Given the description of an element on the screen output the (x, y) to click on. 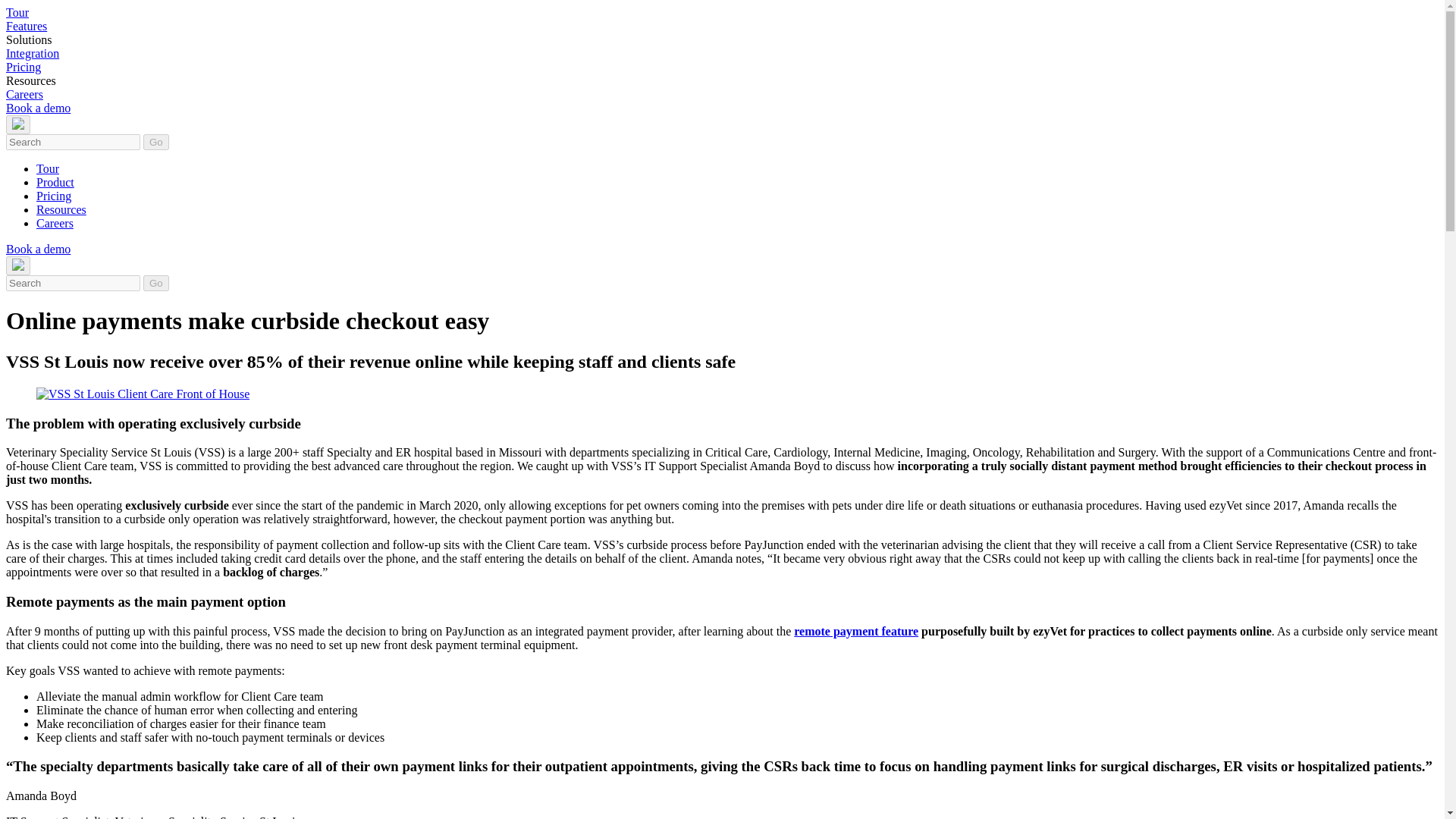
Careers (24, 93)
Go (155, 141)
Pricing (22, 66)
Integration (32, 52)
Tour (17, 11)
Book a demo (37, 107)
Features (25, 25)
